Given the description of an element on the screen output the (x, y) to click on. 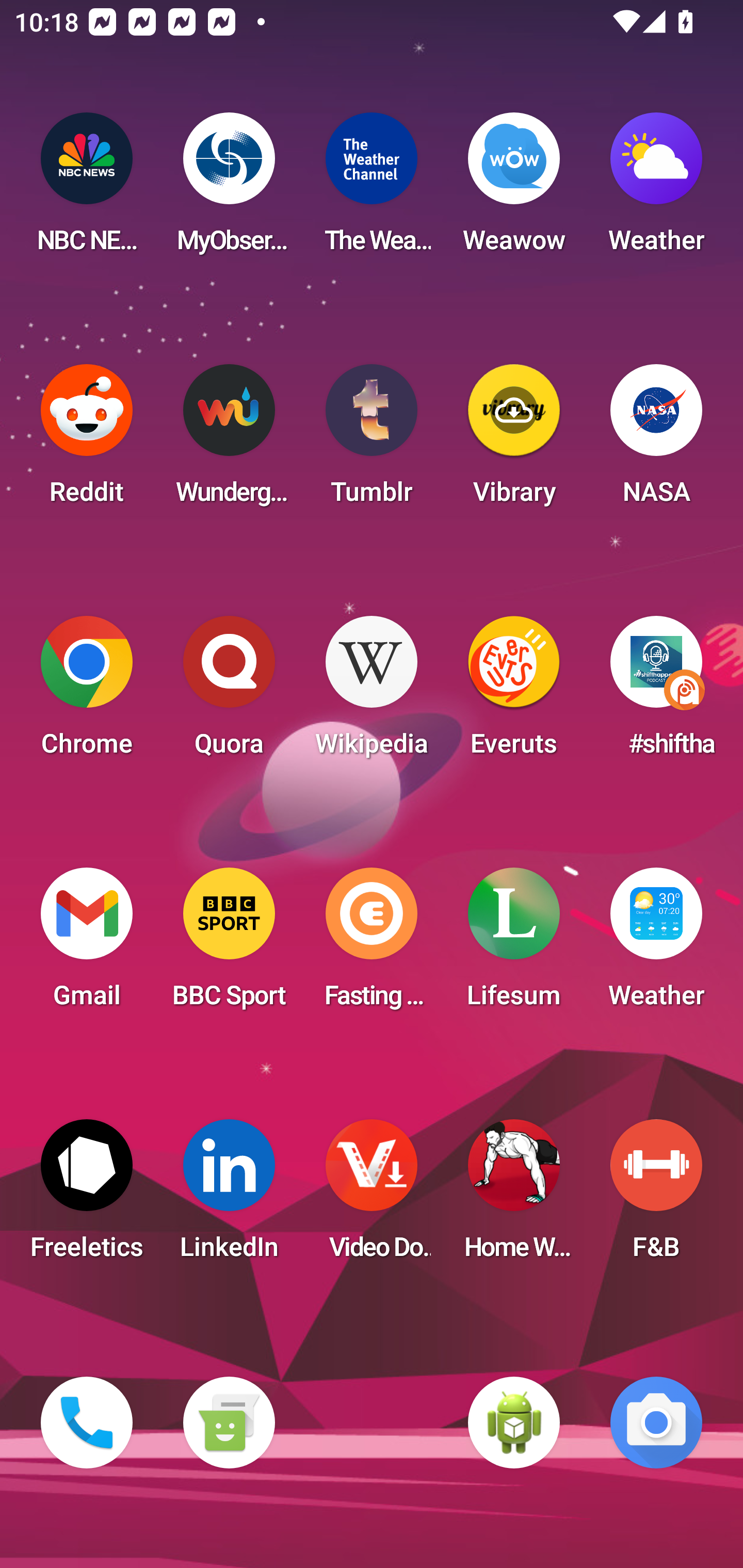
NBC NEWS (86, 188)
MyObservatory (228, 188)
The Weather Channel (371, 188)
Weawow (513, 188)
Weather (656, 188)
Reddit (86, 440)
Wunderground (228, 440)
Tumblr (371, 440)
Vibrary (513, 440)
NASA (656, 440)
Chrome (86, 692)
Quora (228, 692)
Wikipedia (371, 692)
Everuts (513, 692)
#shifthappens in the Digital Workplace Podcast (656, 692)
Gmail (86, 943)
BBC Sport (228, 943)
Fasting Coach (371, 943)
Lifesum (513, 943)
Weather (656, 943)
Freeletics (86, 1195)
LinkedIn (228, 1195)
Video Downloader & Ace Player (371, 1195)
Home Workout (513, 1195)
F&B (656, 1195)
Phone (86, 1422)
Messaging (228, 1422)
WebView Browser Tester (513, 1422)
Camera (656, 1422)
